Given the description of an element on the screen output the (x, y) to click on. 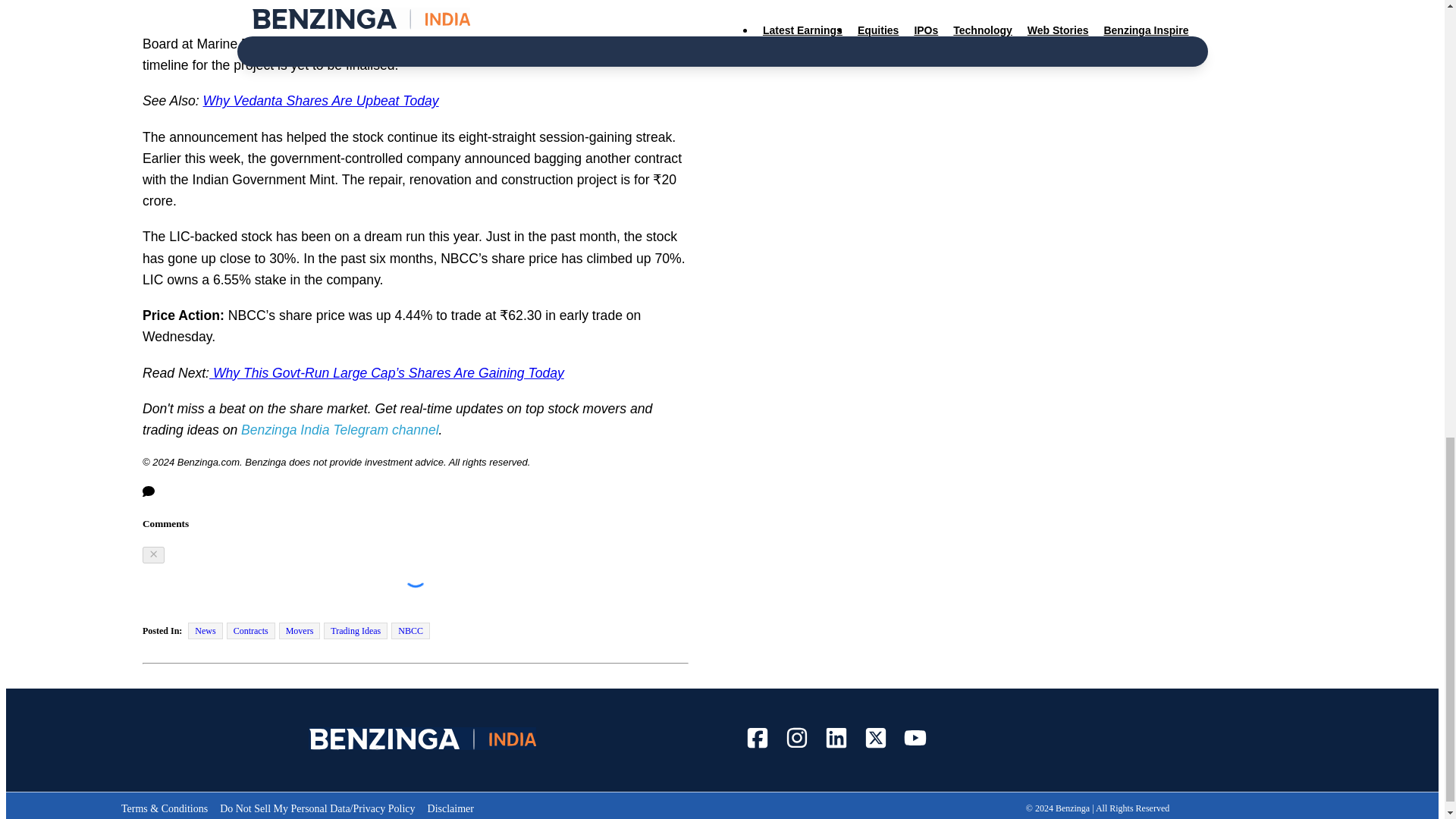
Why Vedanta Shares Are Upbeat Today (321, 100)
News (204, 630)
Movers (299, 630)
Benzinga India Telegram channel (340, 429)
Trading Ideas (355, 630)
Close menu (153, 555)
Disclaimer (451, 808)
NBCC (410, 630)
Contracts (251, 630)
